Given the description of an element on the screen output the (x, y) to click on. 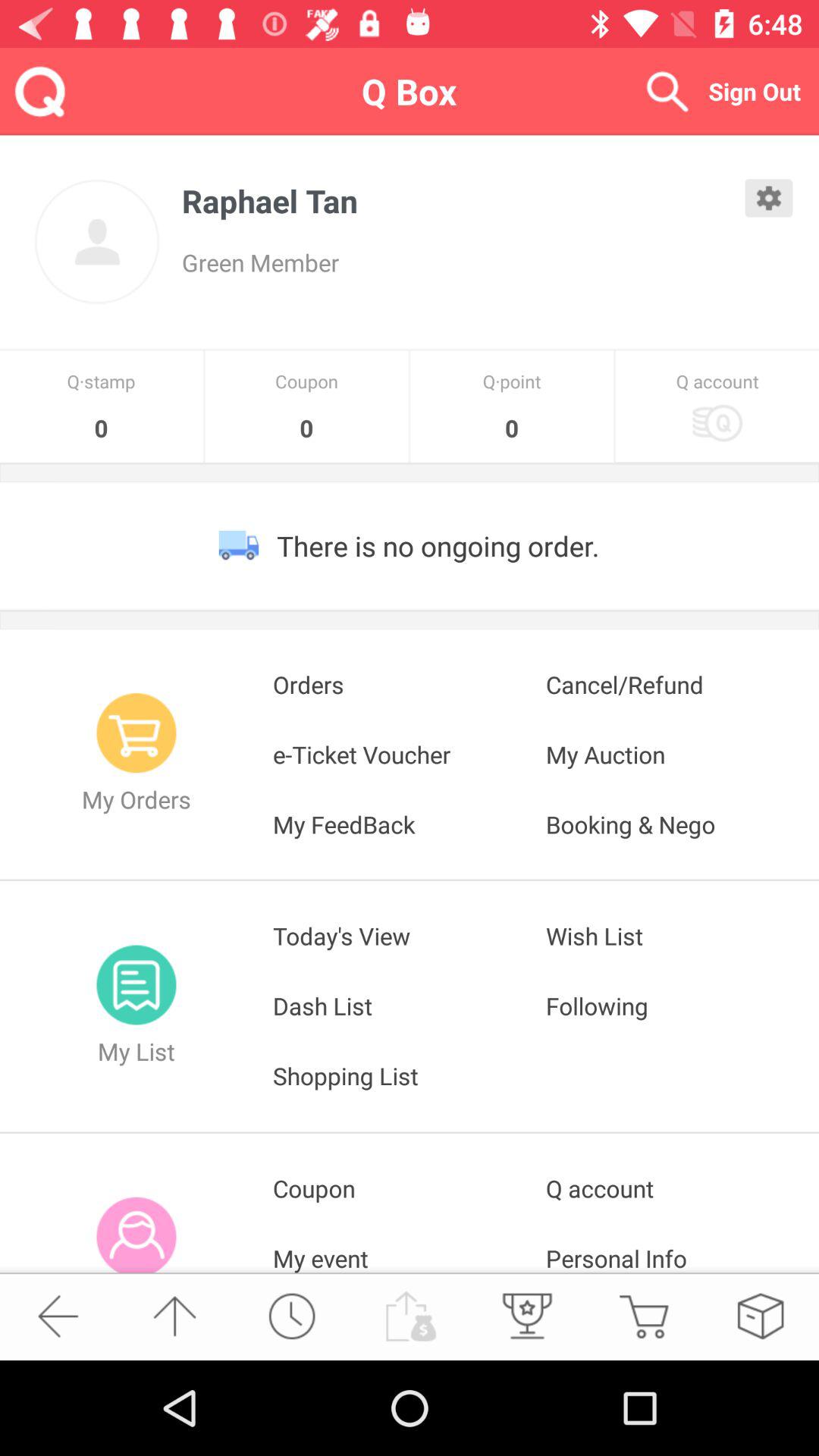
click the icon below my info app (58, 1316)
